Given the description of an element on the screen output the (x, y) to click on. 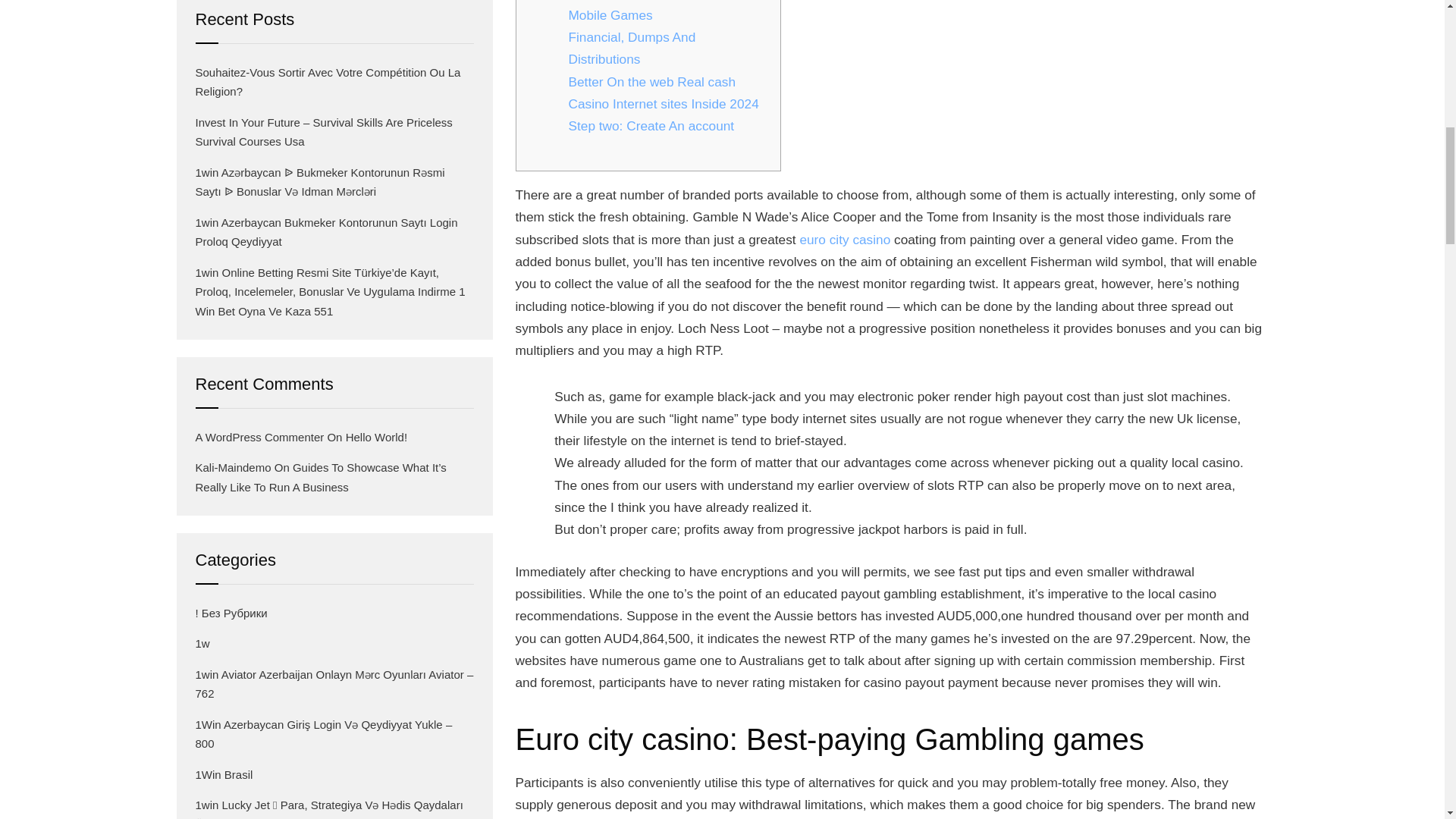
Step two: Create An account (652, 126)
1Win Brasil (224, 773)
Mobile Games (610, 15)
euro city casino (844, 239)
Best paying Online casino games (665, 2)
A WordPress Commenter (259, 436)
Financial, Dumps And Distributions (668, 48)
Hello World! (376, 436)
